Given the description of an element on the screen output the (x, y) to click on. 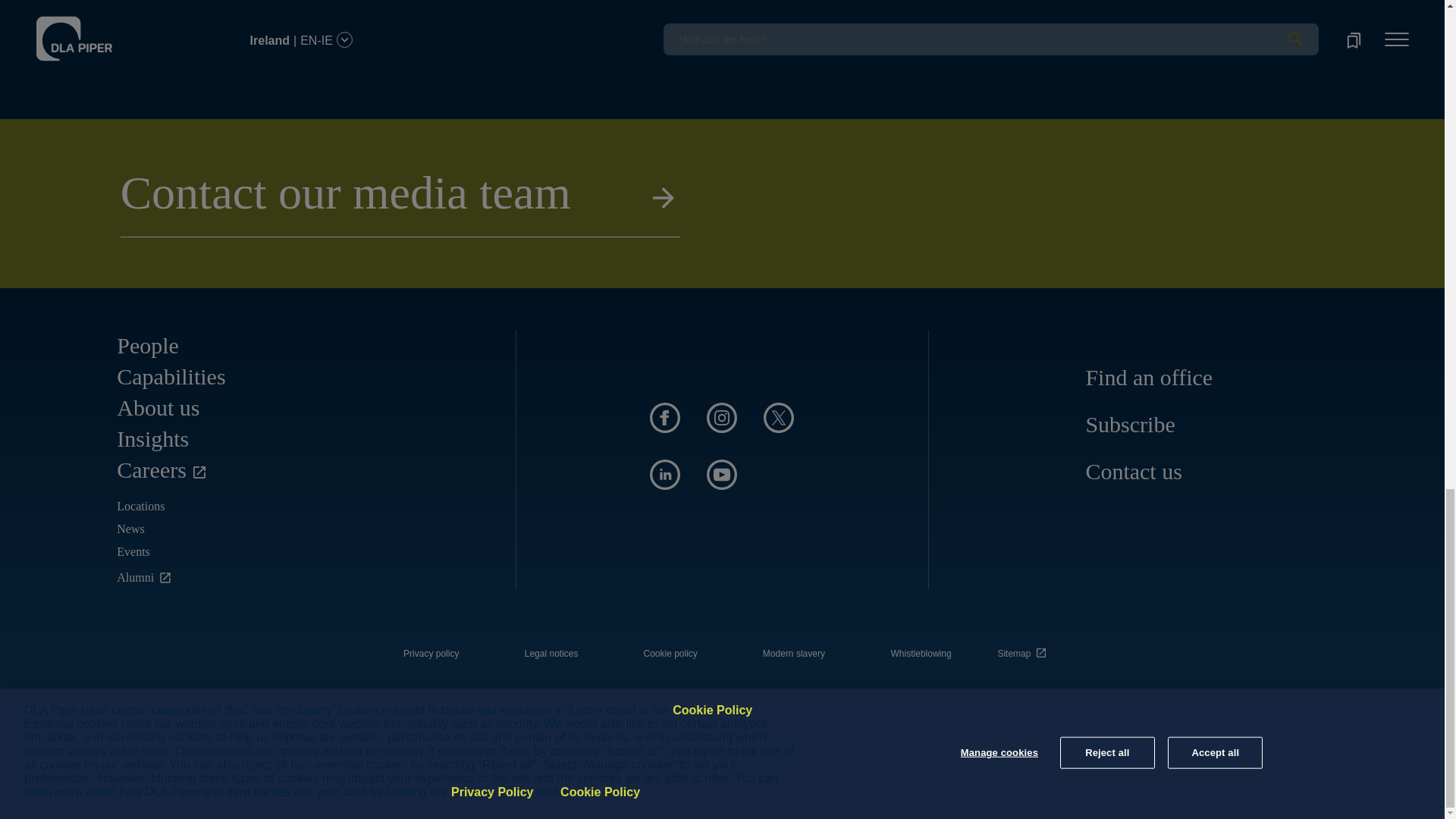
external (1024, 649)
internal (430, 653)
internal (670, 653)
internal (549, 653)
internal (920, 653)
internal (793, 653)
